Given the description of an element on the screen output the (x, y) to click on. 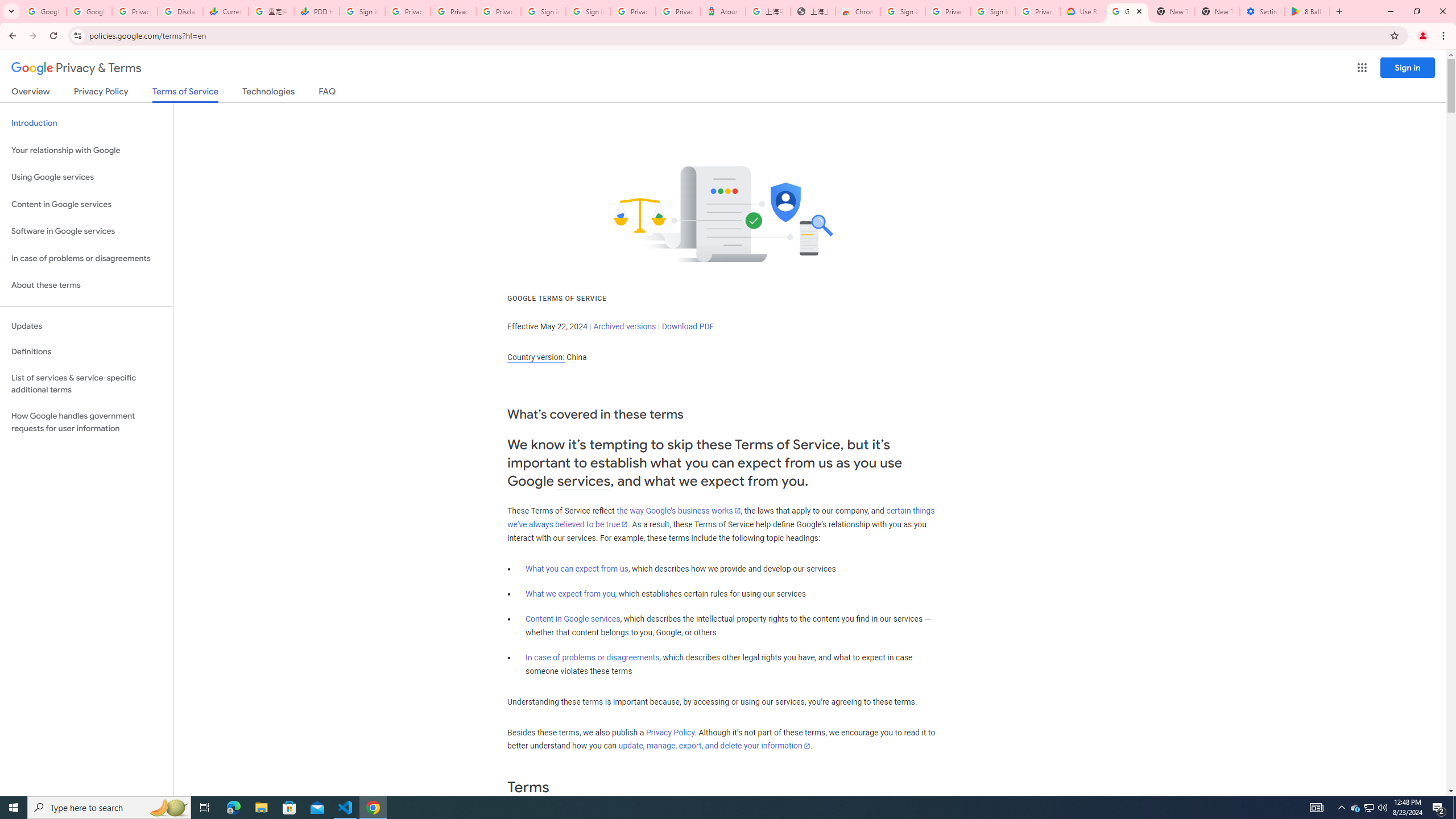
Google apps (1362, 67)
8 Ball Pool - Apps on Google Play (1307, 11)
In case of problems or disagreements (592, 657)
update, manage, export, and delete your information (714, 746)
Content in Google services (572, 618)
PDD Holdings Inc - ADR (PDD) Price & News - Google Finance (316, 11)
Privacy Checkup (497, 11)
Address and search bar (735, 35)
